Given the description of an element on the screen output the (x, y) to click on. 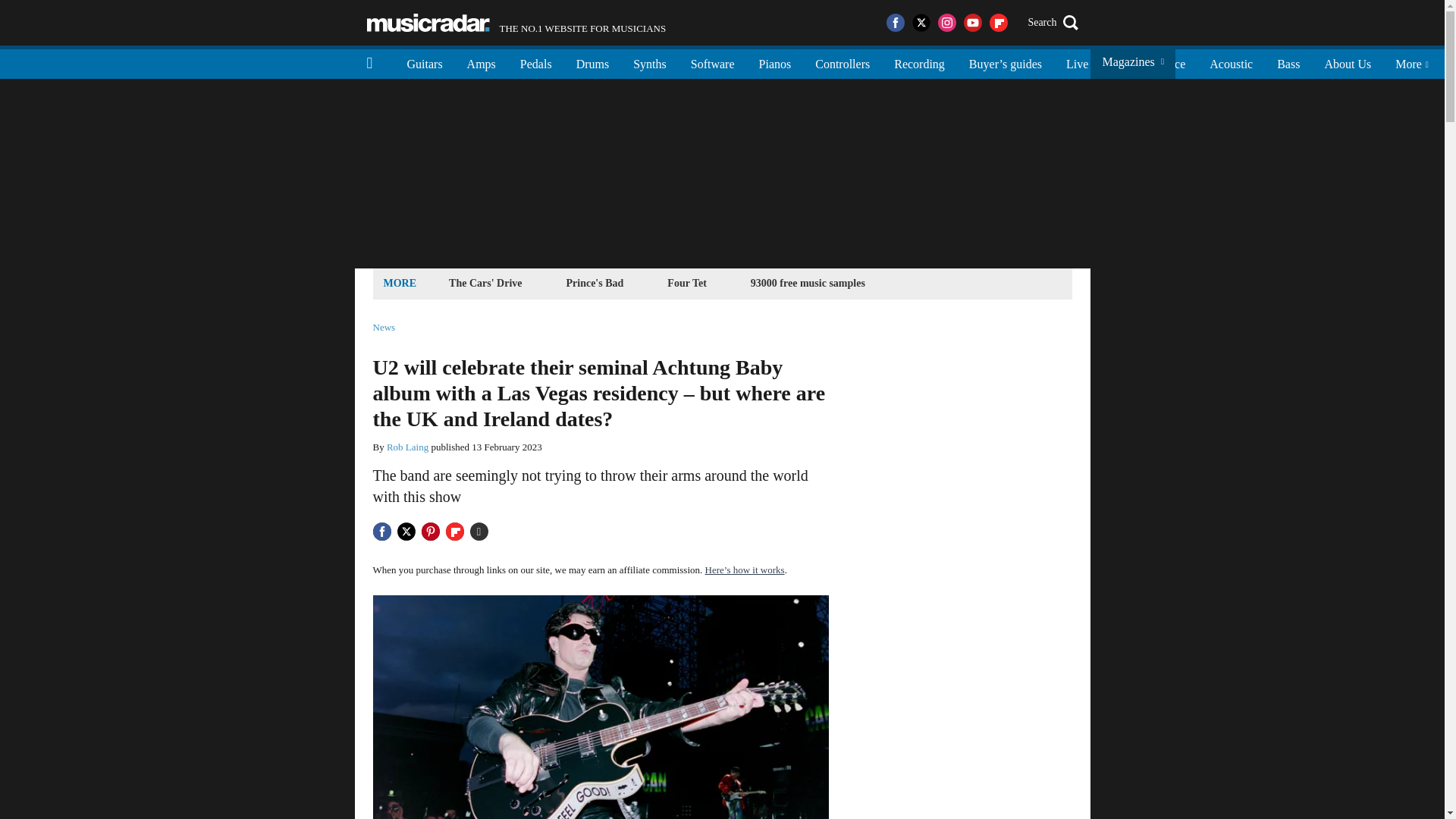
Live (1077, 61)
Recording (919, 61)
Guitars (424, 61)
Rob Laing (407, 446)
Music Radar (427, 22)
Advice (1167, 61)
Prince's Bad (594, 282)
Synths (649, 61)
93000 free music samples (807, 282)
Pedals (536, 61)
